Given the description of an element on the screen output the (x, y) to click on. 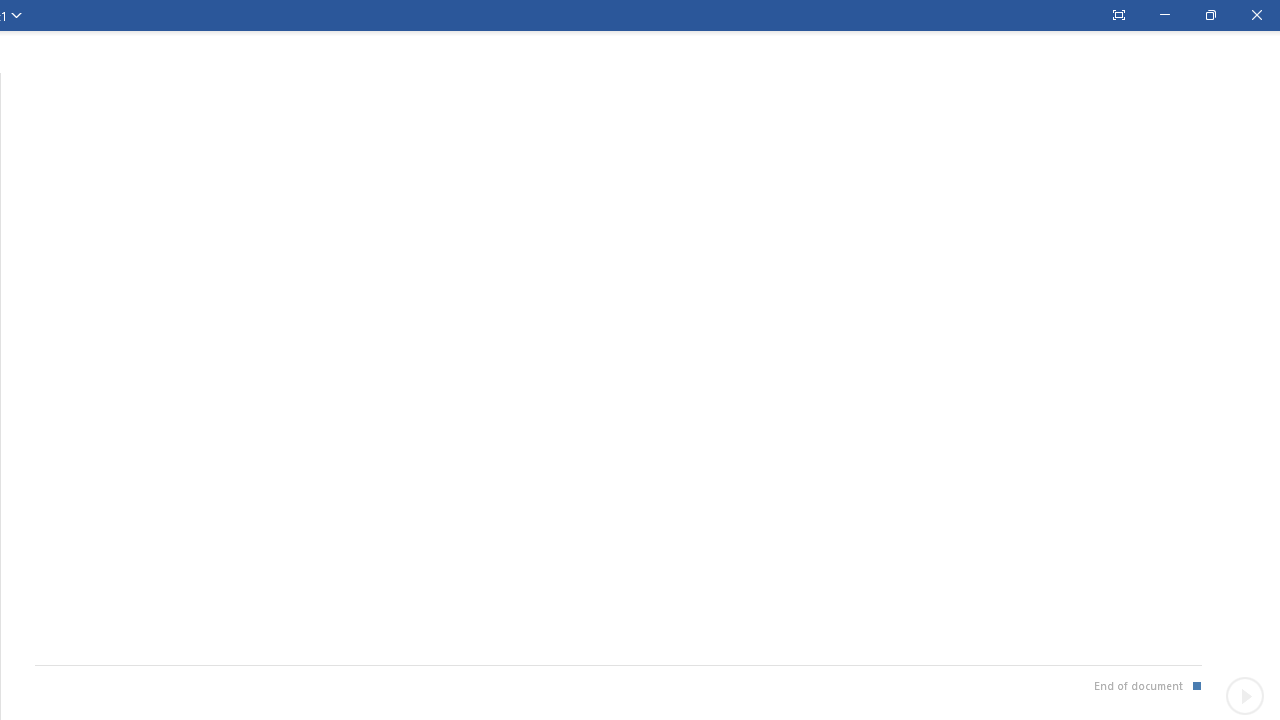
Auto-hide Reading Toolbar (1118, 15)
